Given the description of an element on the screen output the (x, y) to click on. 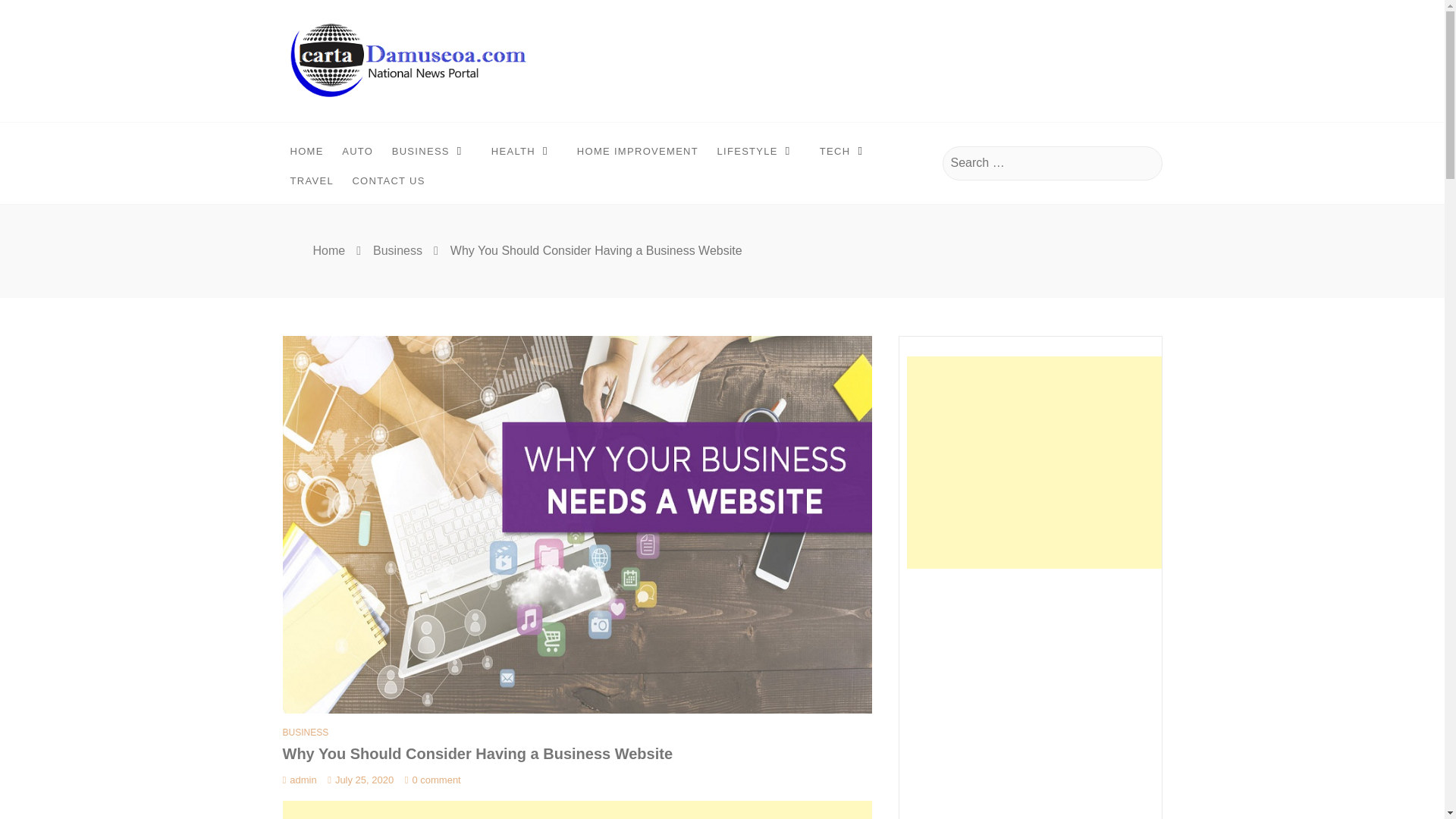
TECH (846, 149)
LIFESTYLE (759, 149)
HEALTH (524, 149)
TRAVEL (311, 180)
Business (397, 250)
Search (1148, 163)
Search (1148, 163)
admin (298, 779)
CONTACT US (387, 180)
